Given the description of an element on the screen output the (x, y) to click on. 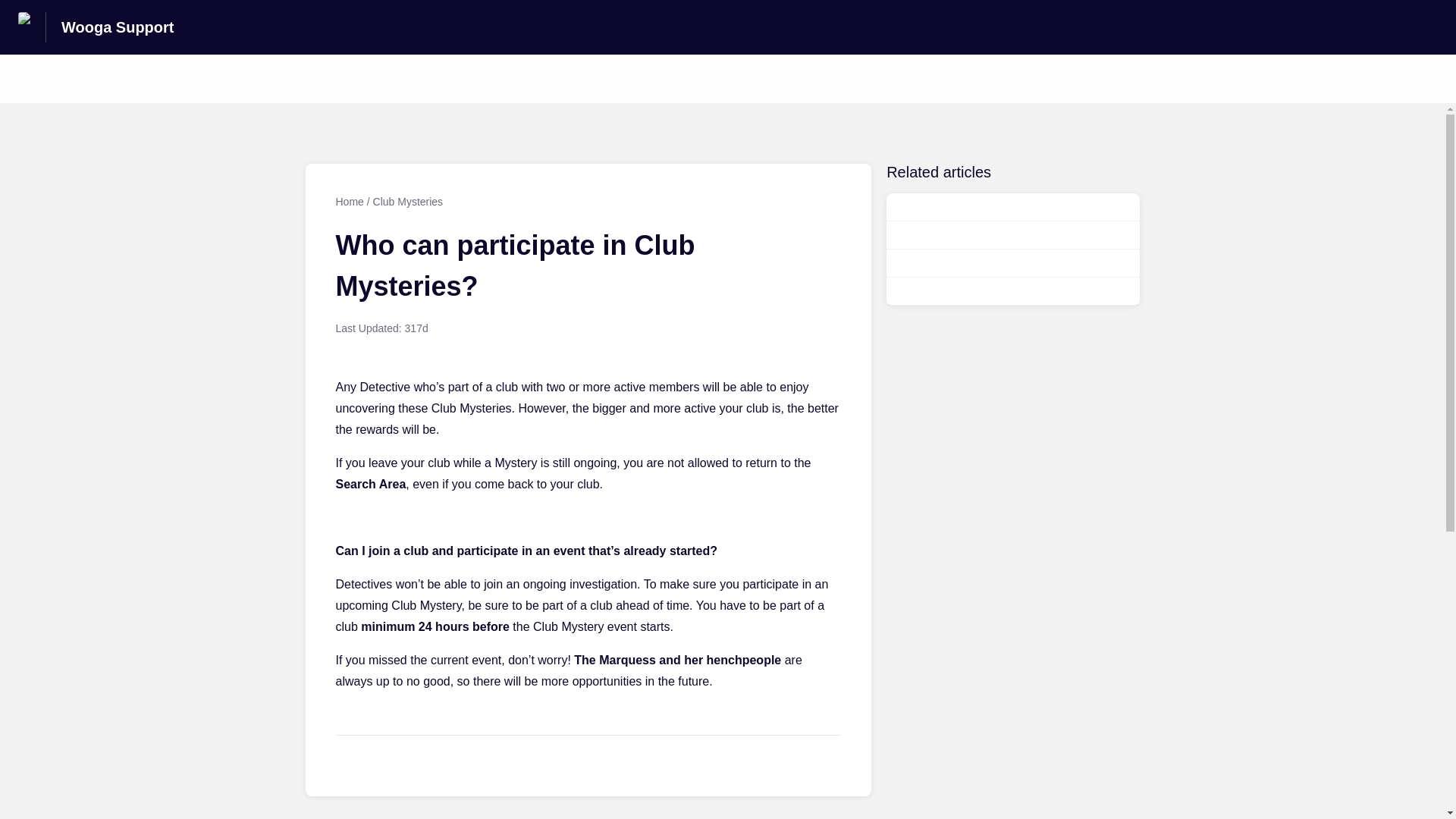
Club Mysteries (408, 201)
Wooga Support (117, 27)
Home (348, 201)
